Given the description of an element on the screen output the (x, y) to click on. 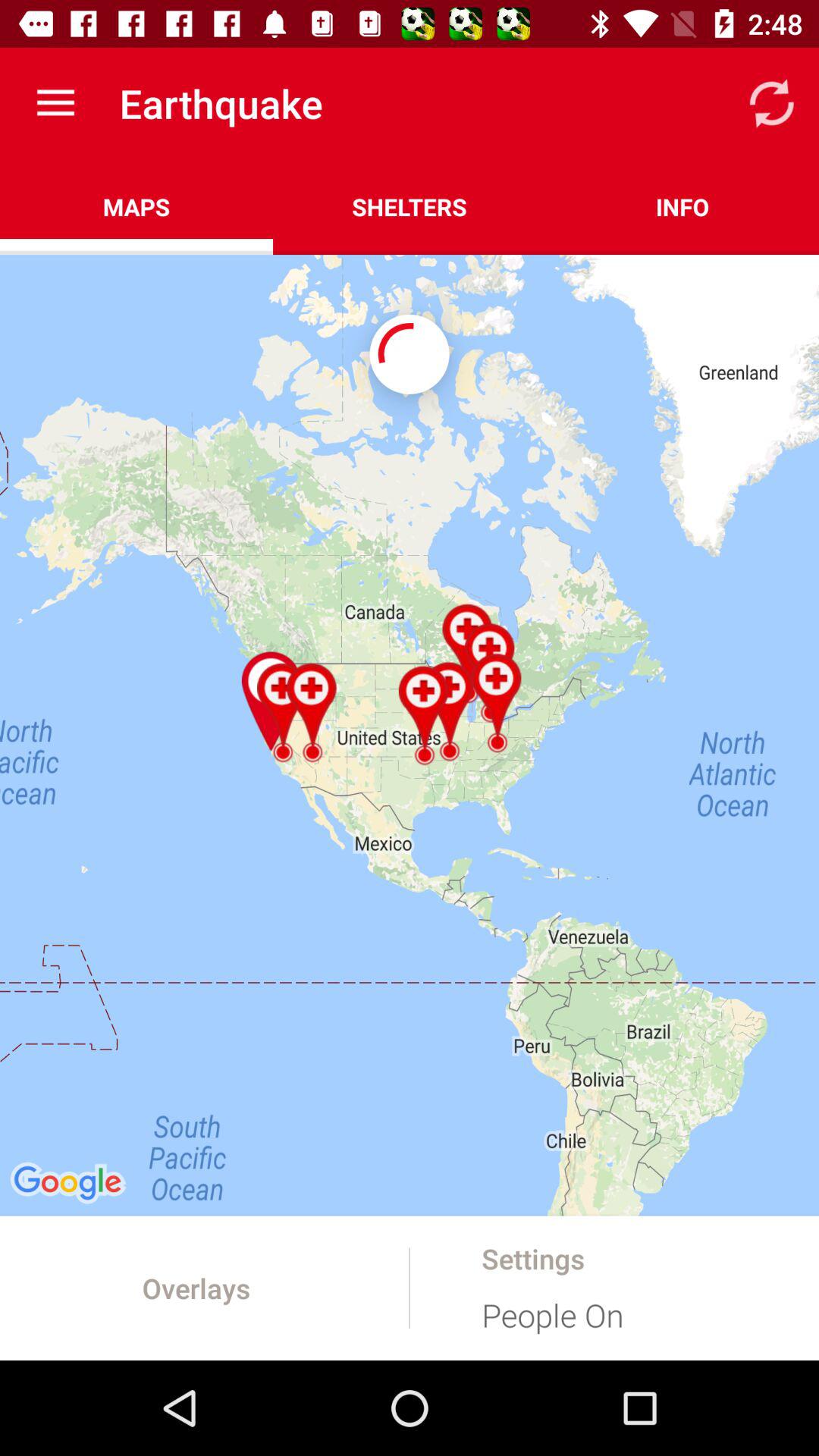
choose the app to the left of the shelters item (136, 206)
